Given the description of an element on the screen output the (x, y) to click on. 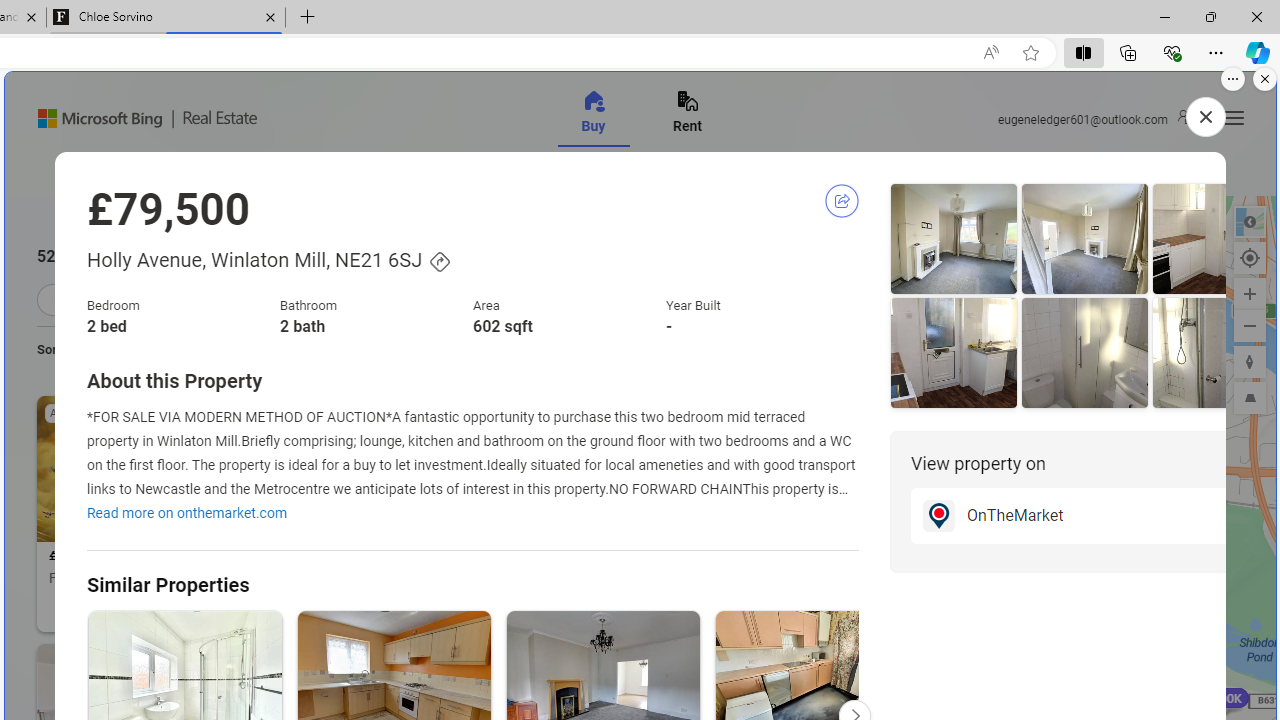
Chloe Sorvino (166, 17)
More options. (1233, 79)
